Given the description of an element on the screen output the (x, y) to click on. 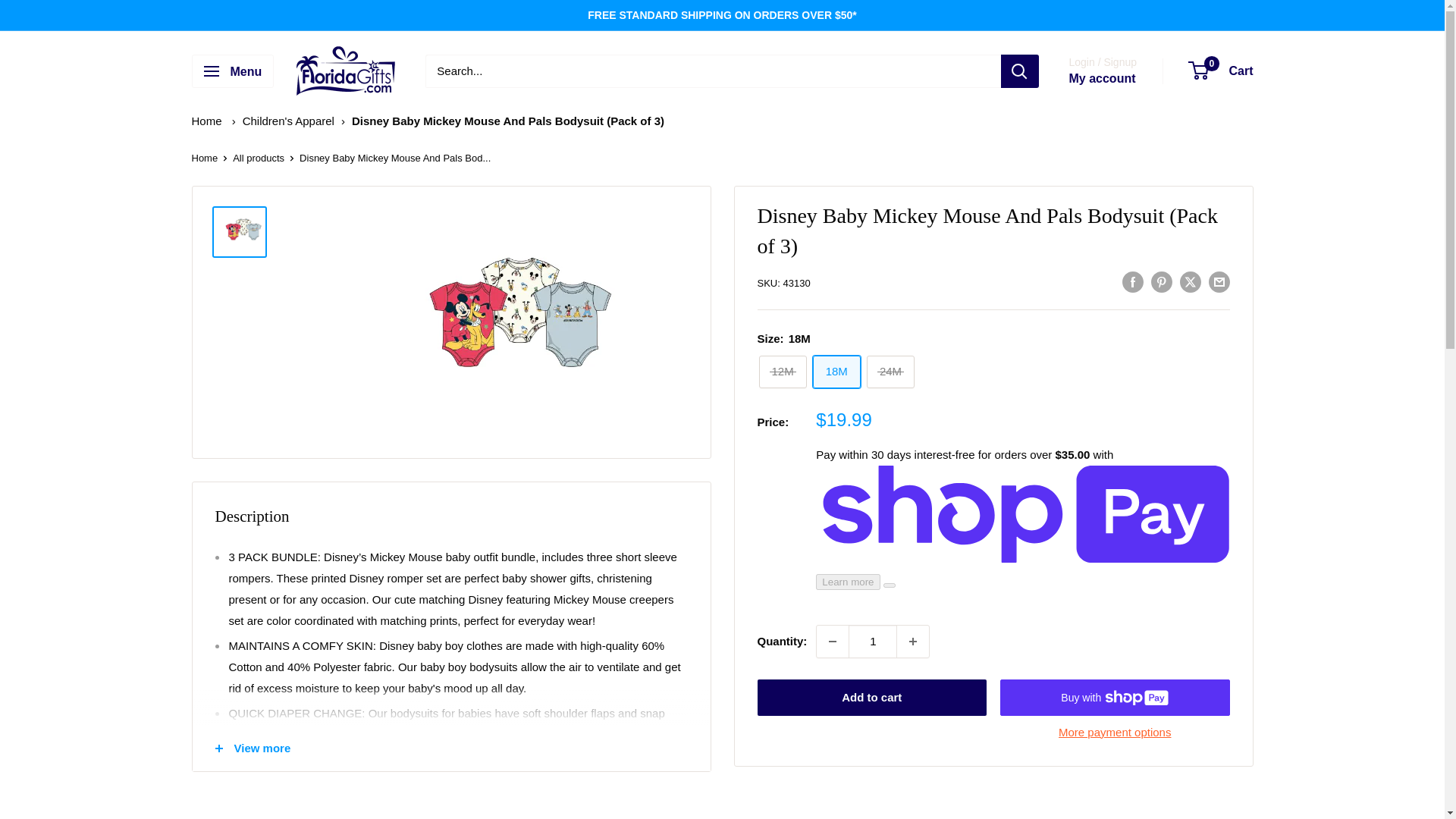
Home (205, 120)
18M (836, 371)
24M (890, 371)
1 (872, 641)
Decrease quantity by 1 (832, 641)
Increase quantity by 1 (912, 641)
12M (782, 371)
